Given the description of an element on the screen output the (x, y) to click on. 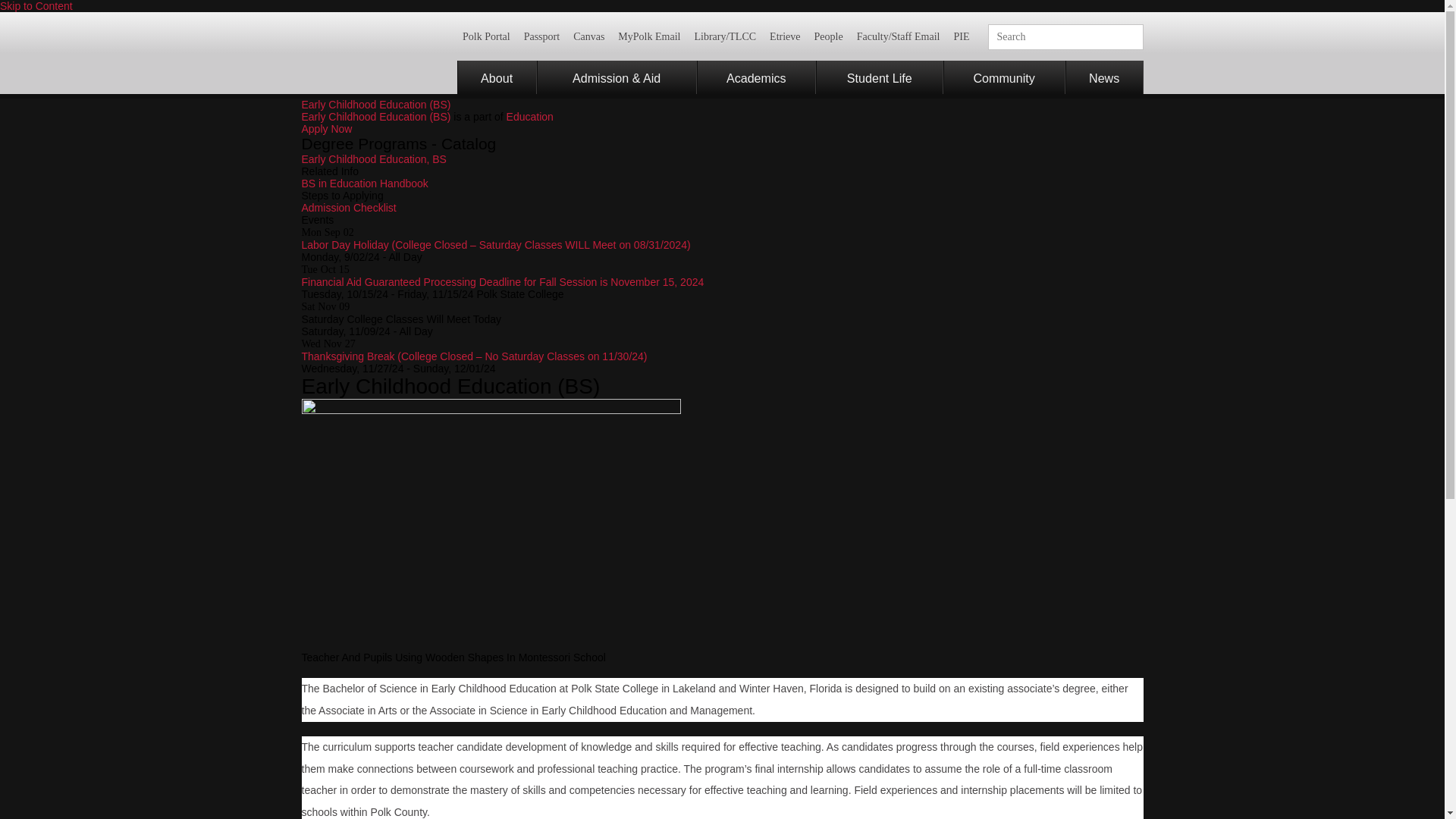
PIE (960, 37)
Polk State College (371, 53)
Education (529, 116)
People (828, 37)
About Polk (496, 76)
Polk Portal (486, 37)
MyPolk Email (649, 37)
Community (1004, 76)
Skip to Content (36, 6)
Admission Checklist (348, 207)
